Given the description of an element on the screen output the (x, y) to click on. 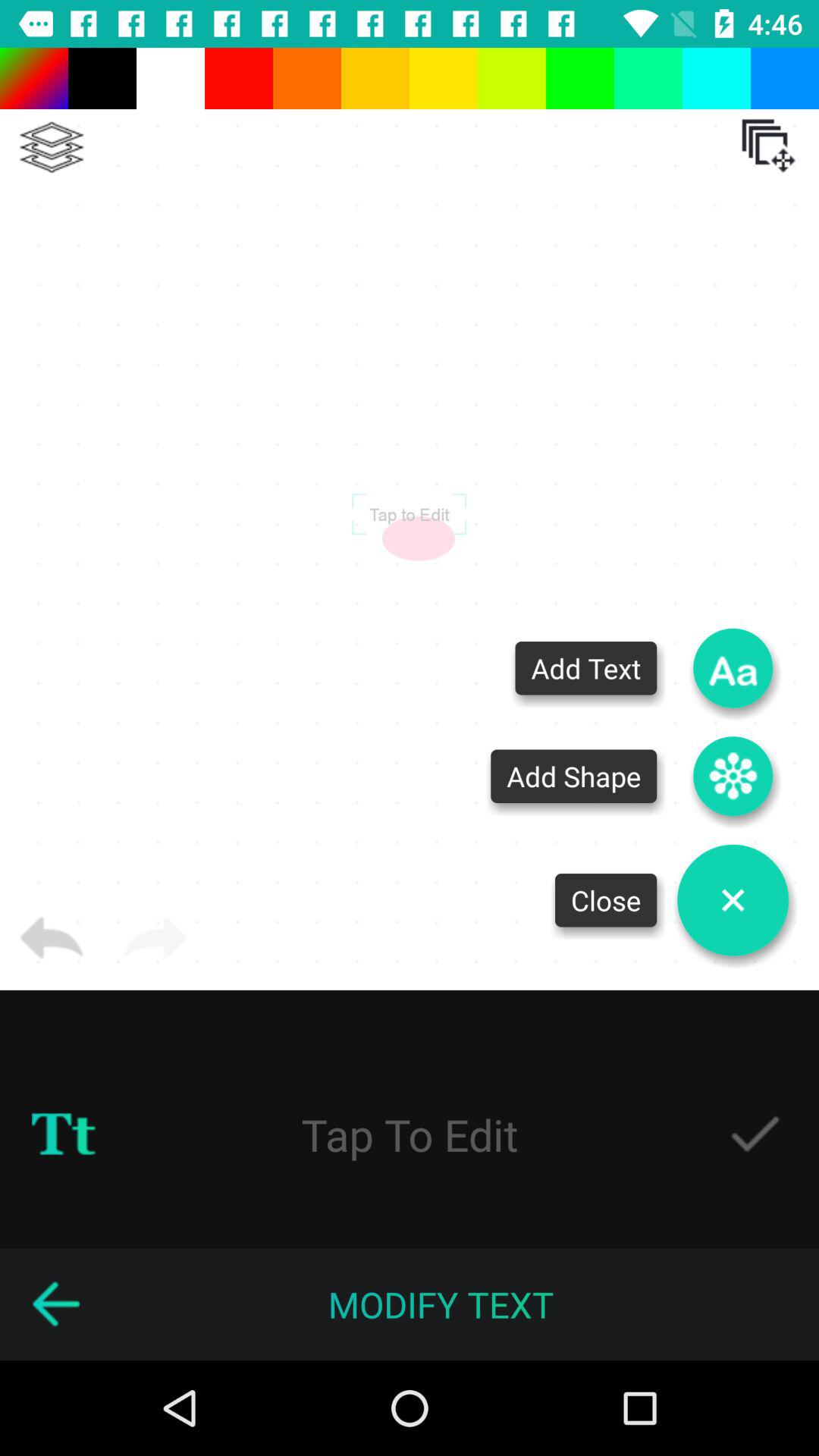
open multiple windows (768, 145)
